Given the description of an element on the screen output the (x, y) to click on. 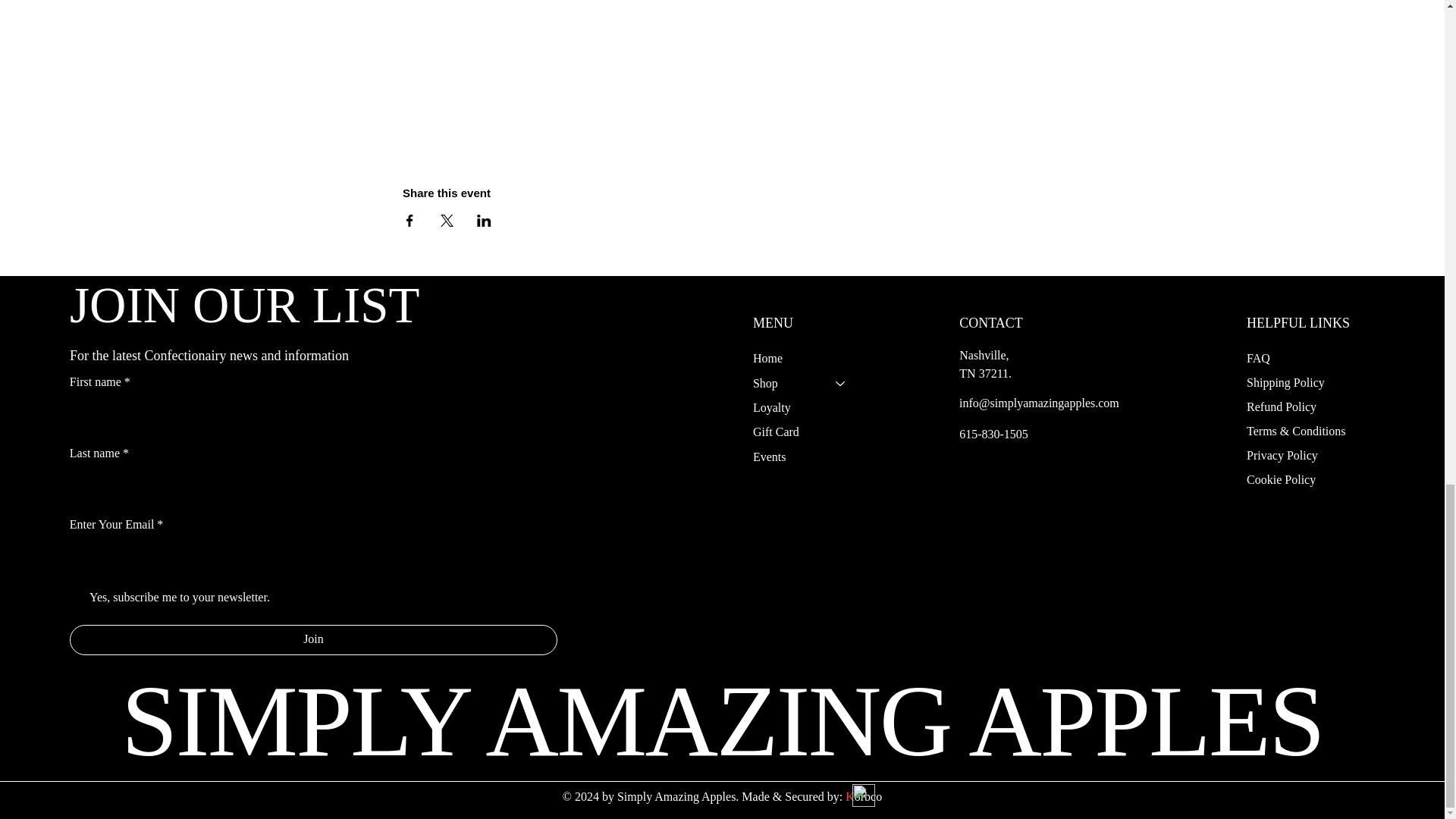
Shop (787, 383)
Korbco (863, 796)
Cookie Policy (1281, 479)
Join (313, 639)
Shipping Policy (1285, 382)
Gift Card (806, 432)
Loyalty (806, 407)
FAQ  (1259, 358)
Events (806, 457)
